Given the description of an element on the screen output the (x, y) to click on. 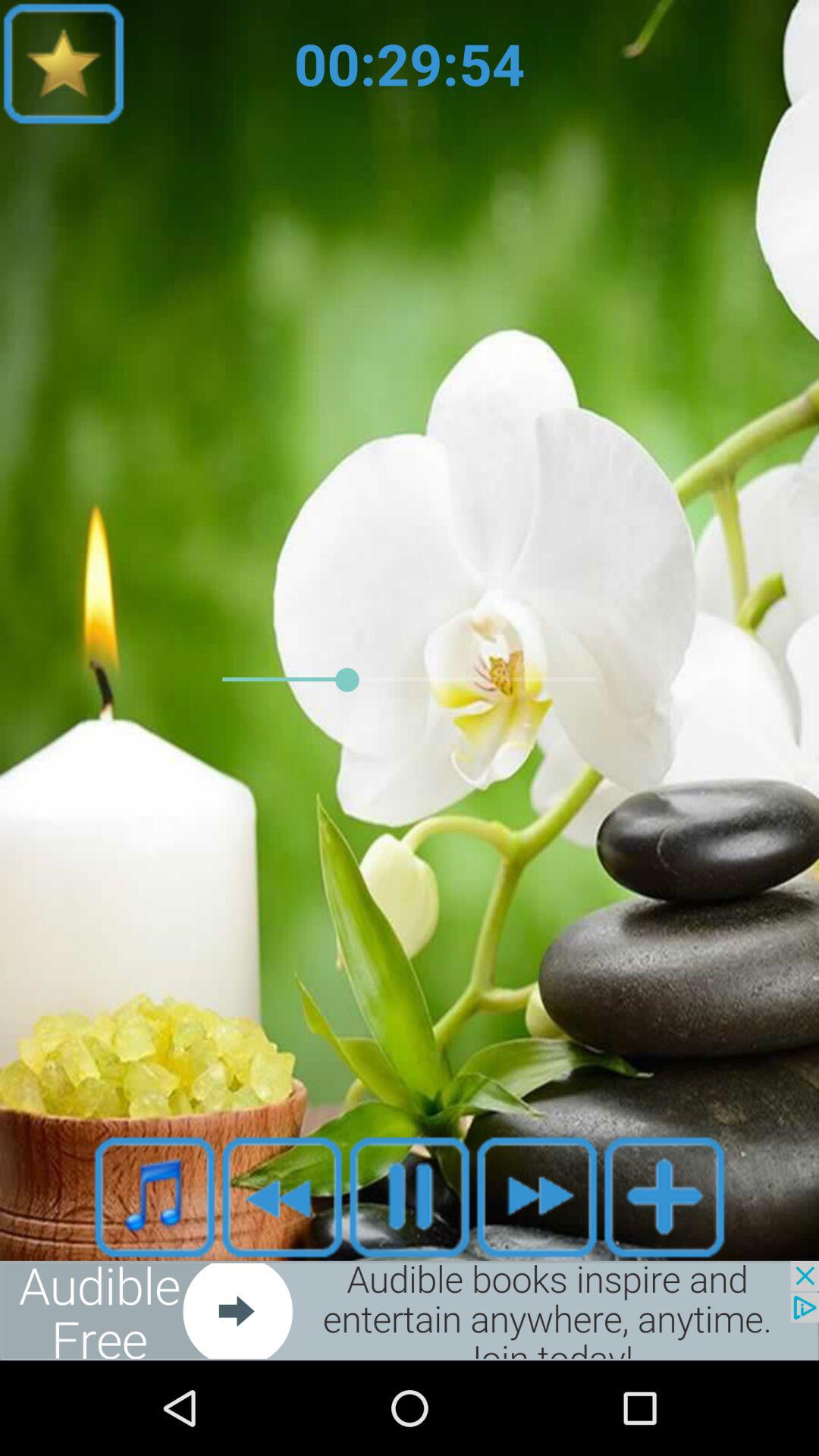
view/listen to favorites (63, 63)
